Given the description of an element on the screen output the (x, y) to click on. 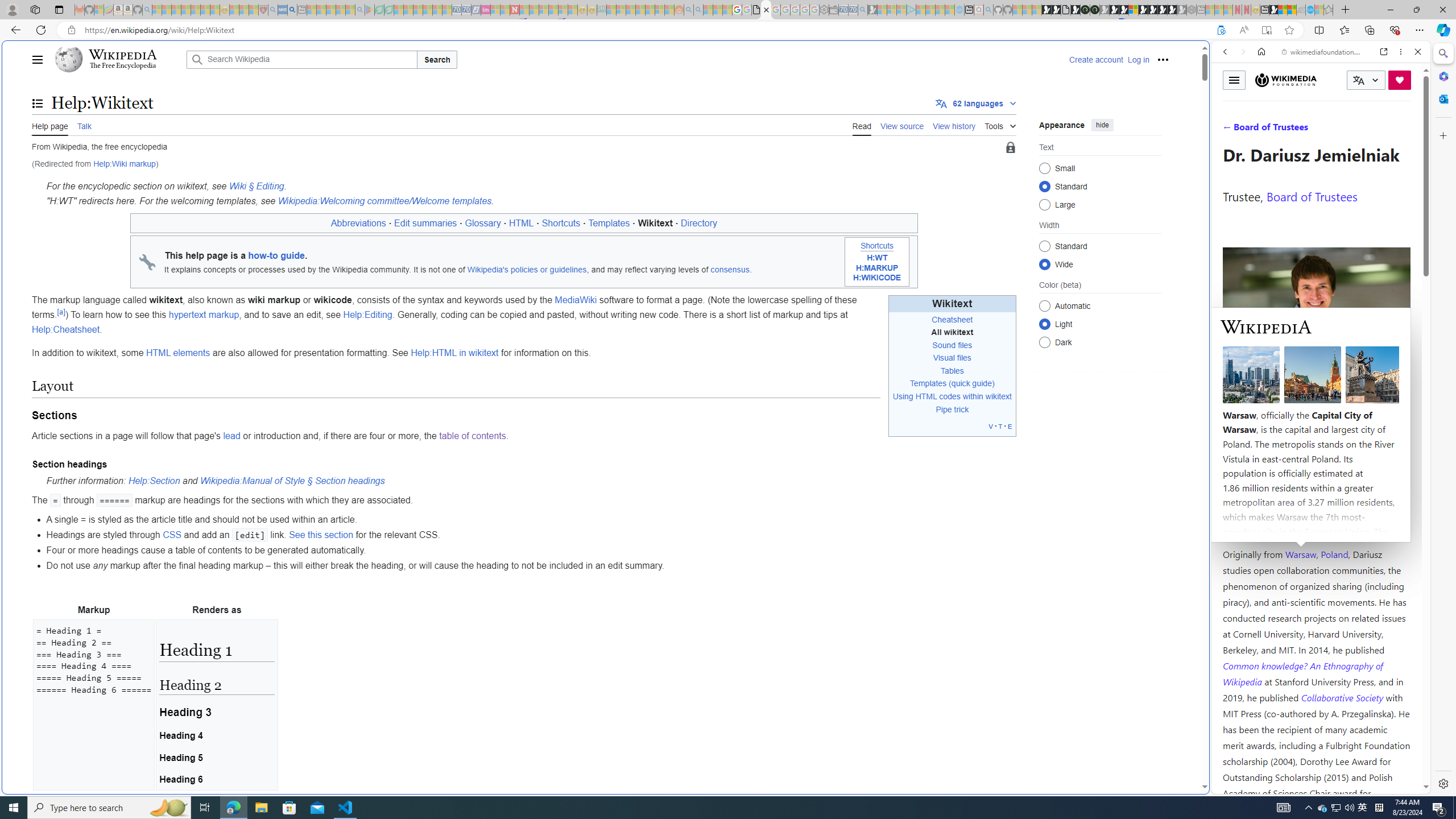
Help:Section (154, 480)
View source (902, 124)
Read (861, 124)
e (1009, 425)
